Given the description of an element on the screen output the (x, y) to click on. 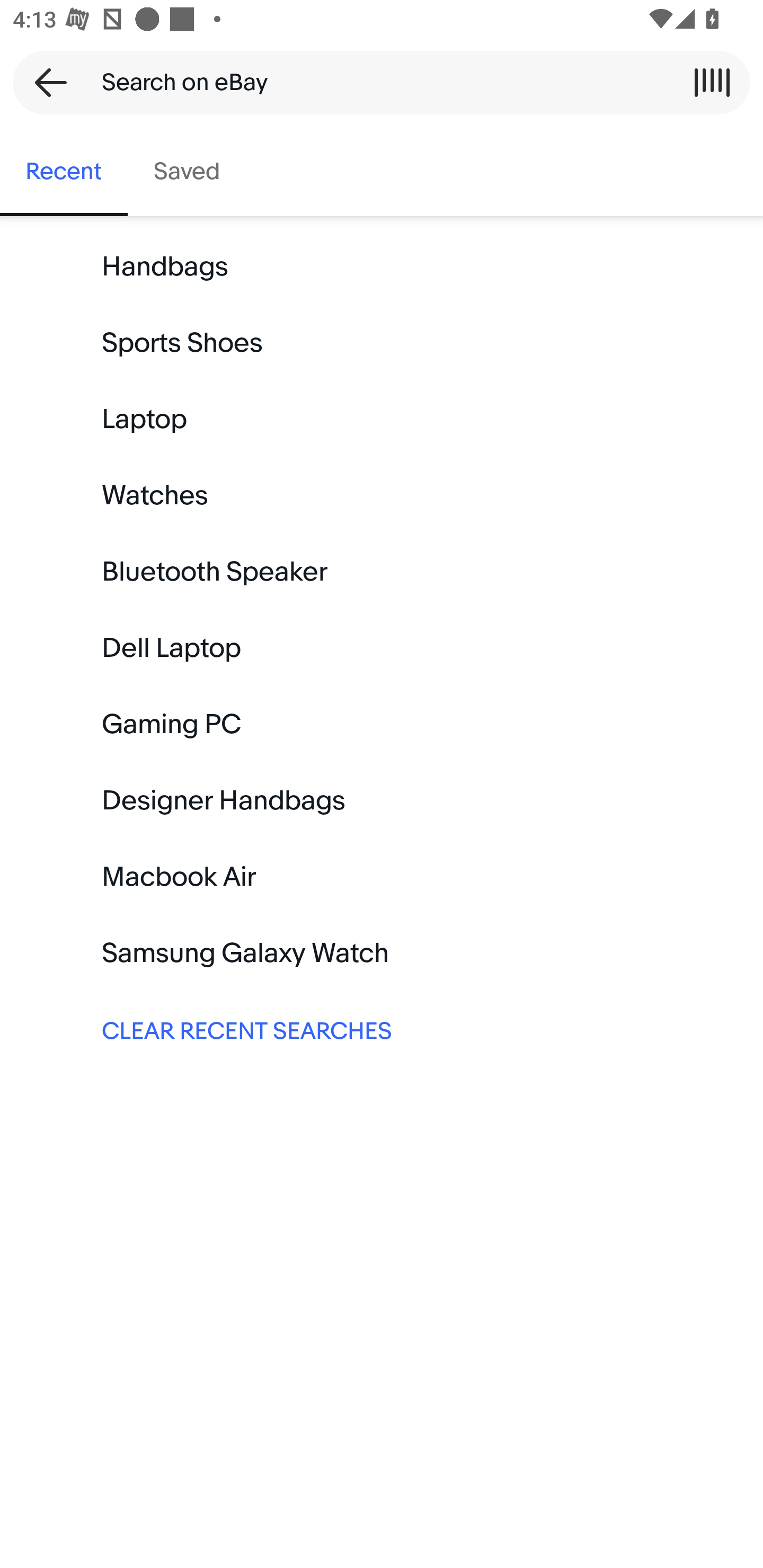
Back (44, 82)
Scan a barcode (711, 82)
Search on eBay (375, 82)
Saved, tab 2 of 2 Saved (186, 171)
Handbags Keyword search Handbags: (381, 266)
Sports Shoes Keyword search Sports Shoes: (381, 343)
Laptop Keyword search Laptop: (381, 419)
Watches Keyword search Watches: (381, 495)
Dell Laptop Keyword search Dell Laptop: (381, 647)
Gaming PC Keyword search Gaming PC: (381, 724)
Macbook Air Keyword search Macbook Air: (381, 876)
CLEAR RECENT SEARCHES (381, 1028)
